Given the description of an element on the screen output the (x, y) to click on. 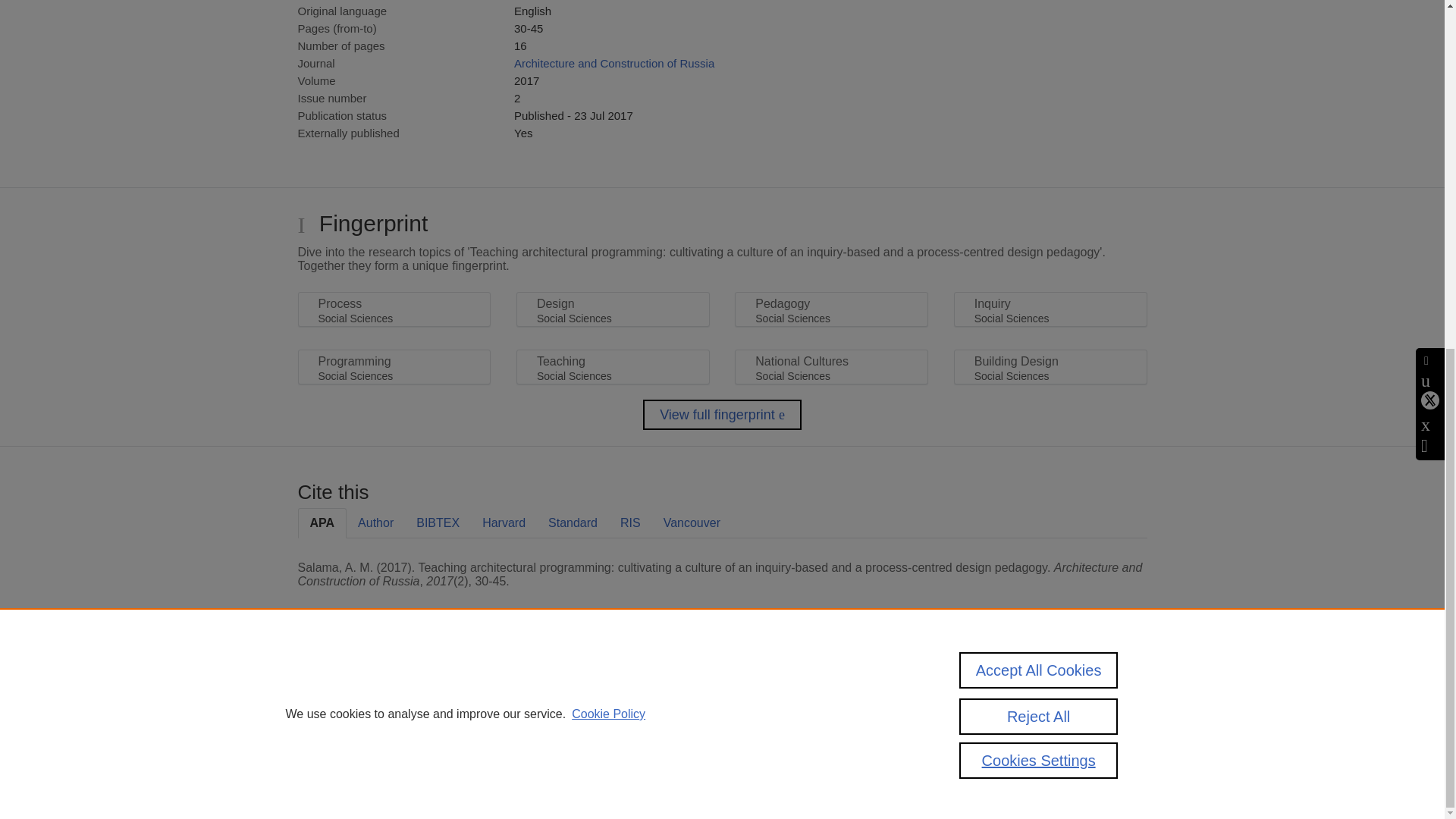
Architecture and Construction of Russia (613, 62)
View full fingerprint (722, 414)
Elsevier B.V. (506, 707)
Cookies Settings (334, 760)
Log in to Pure (327, 781)
Scopus (394, 686)
use of cookies (796, 739)
Pure (362, 686)
